Given the description of an element on the screen output the (x, y) to click on. 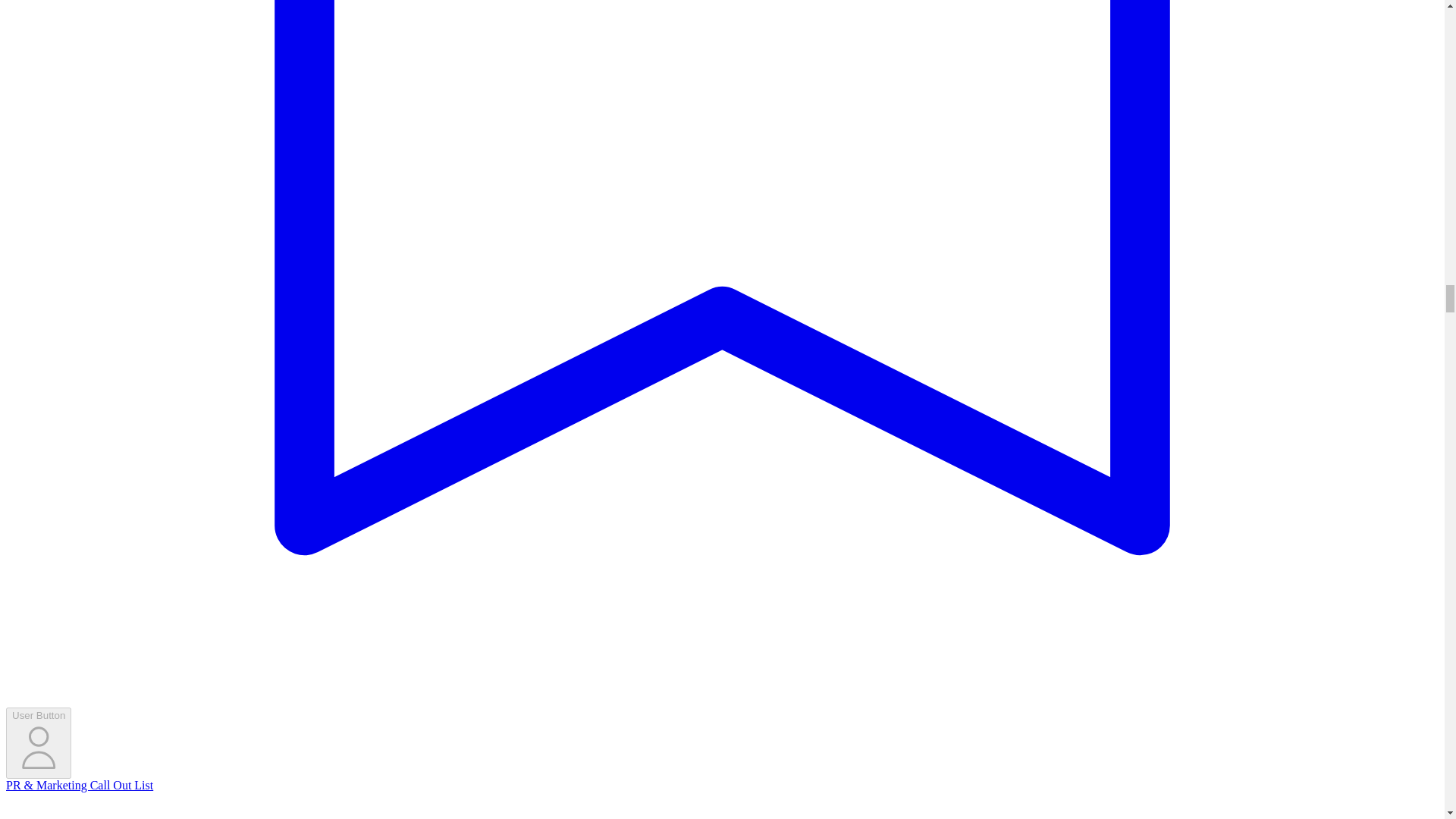
User Button (38, 742)
